Given the description of an element on the screen output the (x, y) to click on. 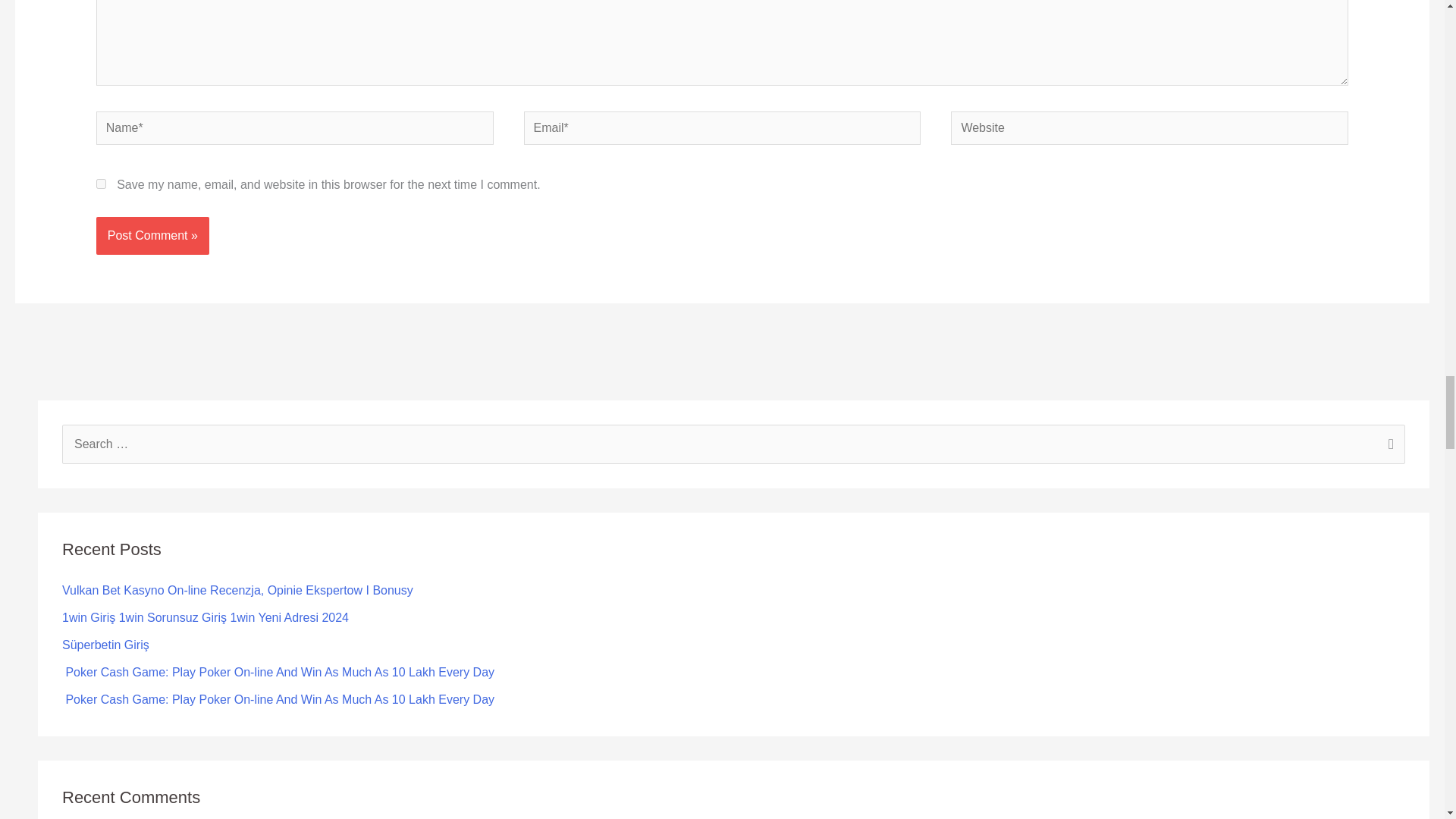
yes (101, 184)
